Given the description of an element on the screen output the (x, y) to click on. 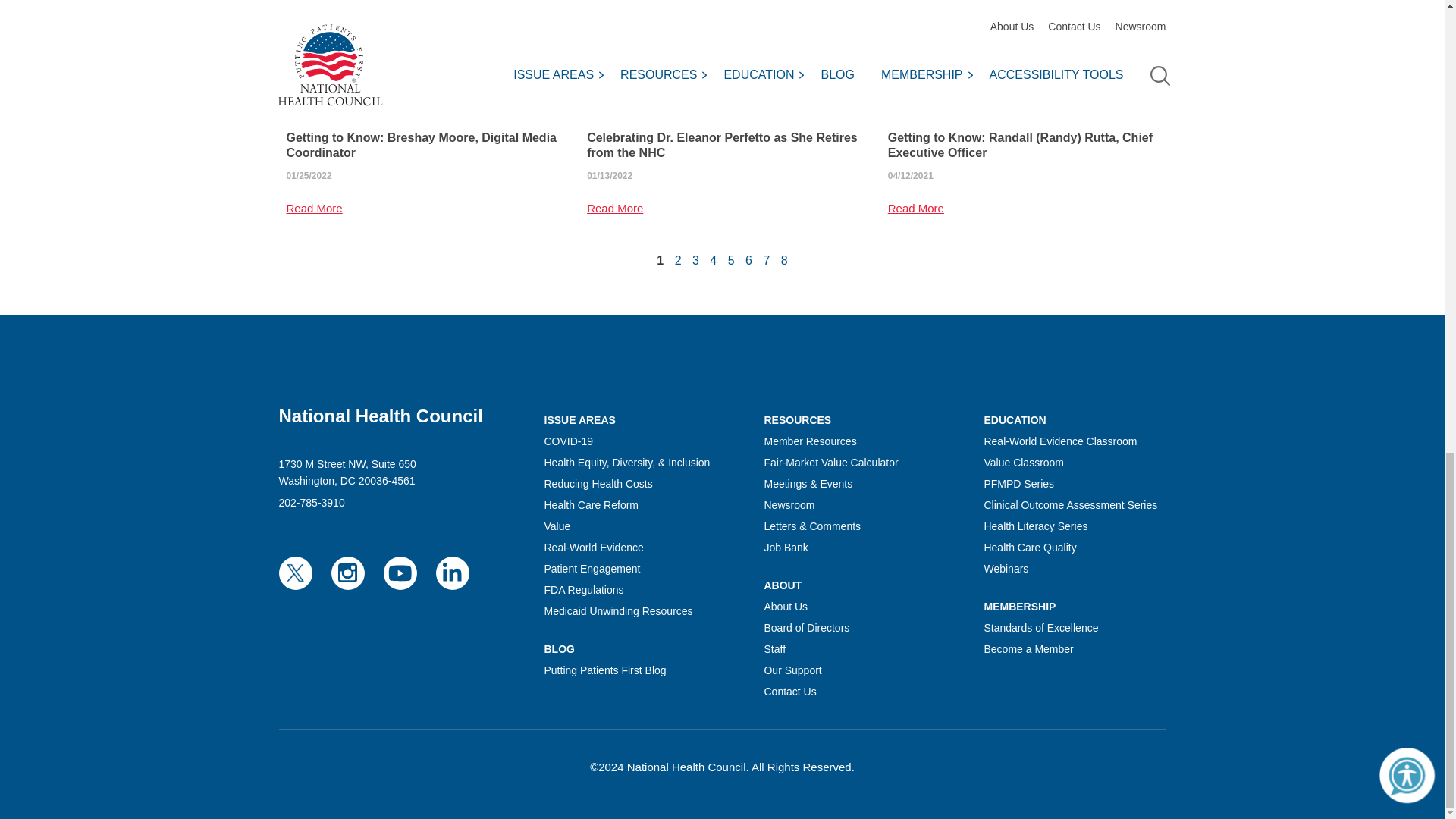
Getting to Know: Breshay Moore, Digital Media Coordinator (421, 57)
Celebrating Dr. Eleanor Perfetto as She Retires from the NHC (721, 145)
Celebrating Dr. Eleanor Perfetto as She Retires from the NHC (721, 57)
Getting to Know: Breshay Moore, Digital Media Coordinator (421, 145)
